Given the description of an element on the screen output the (x, y) to click on. 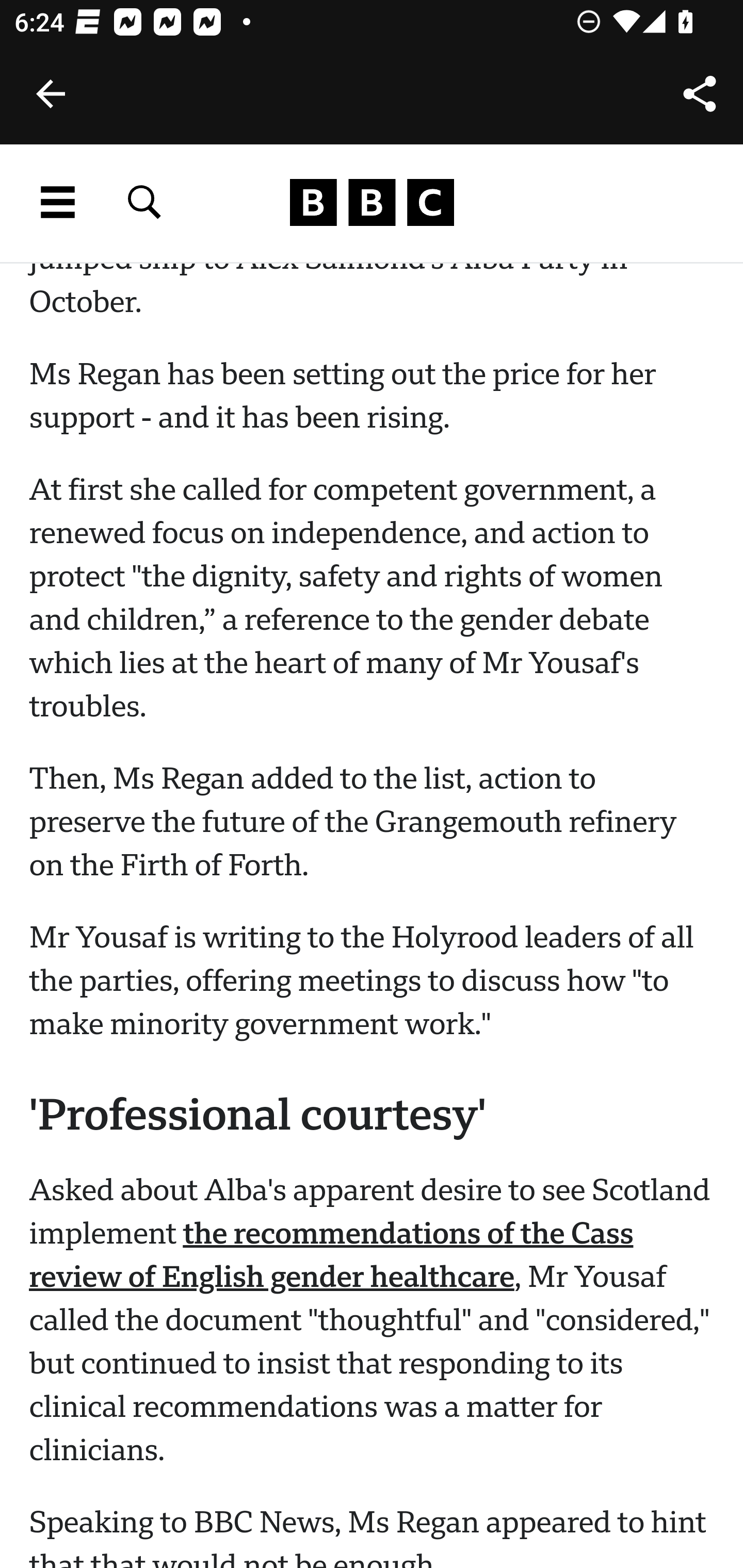
Back (50, 93)
Share (699, 93)
www.bbc (371, 203)
